Given the description of an element on the screen output the (x, y) to click on. 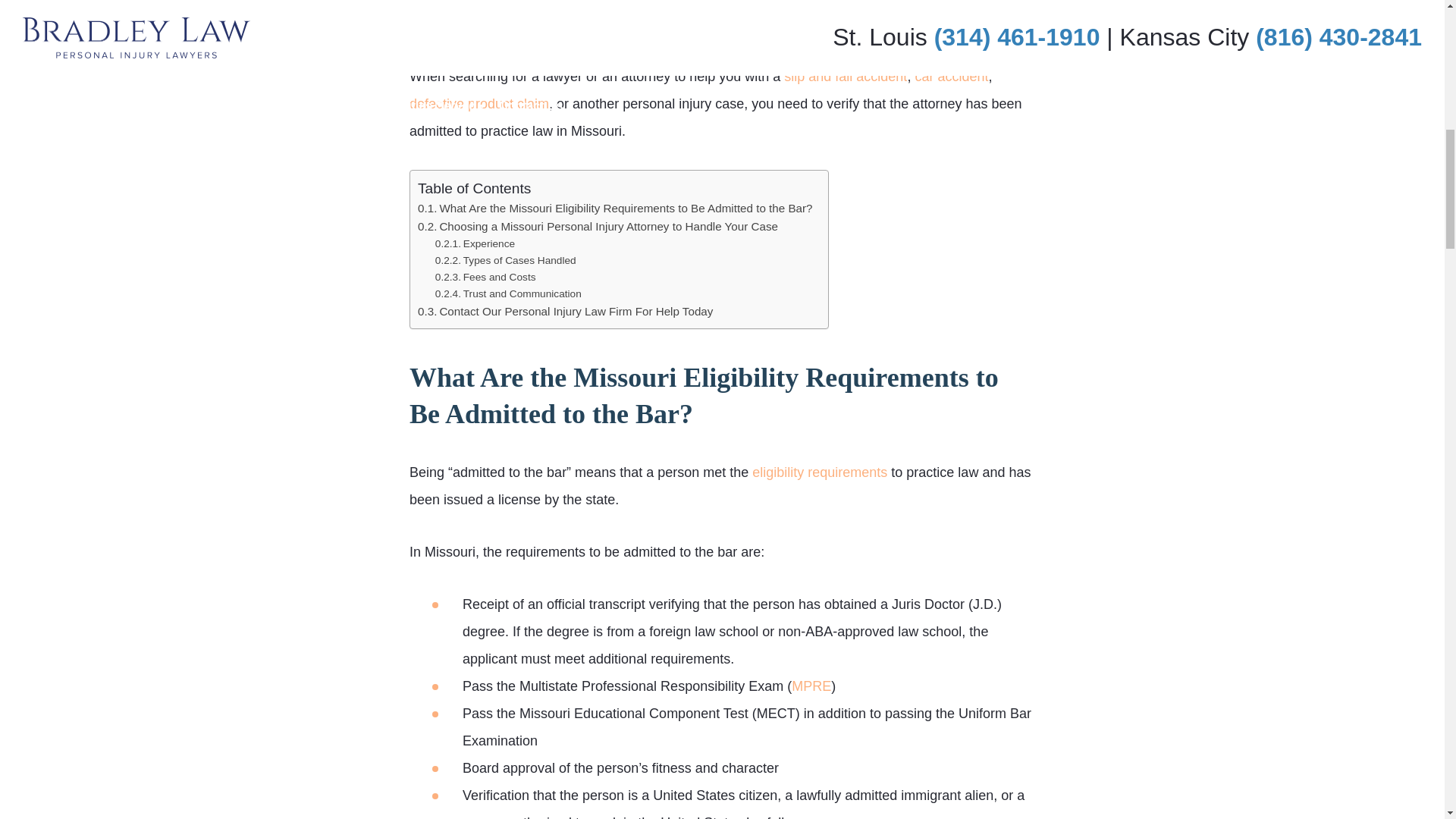
Fees and Costs (485, 277)
Contact Our Personal Injury Law Firm For Help Today (565, 311)
Experience (475, 243)
